Given the description of an element on the screen output the (x, y) to click on. 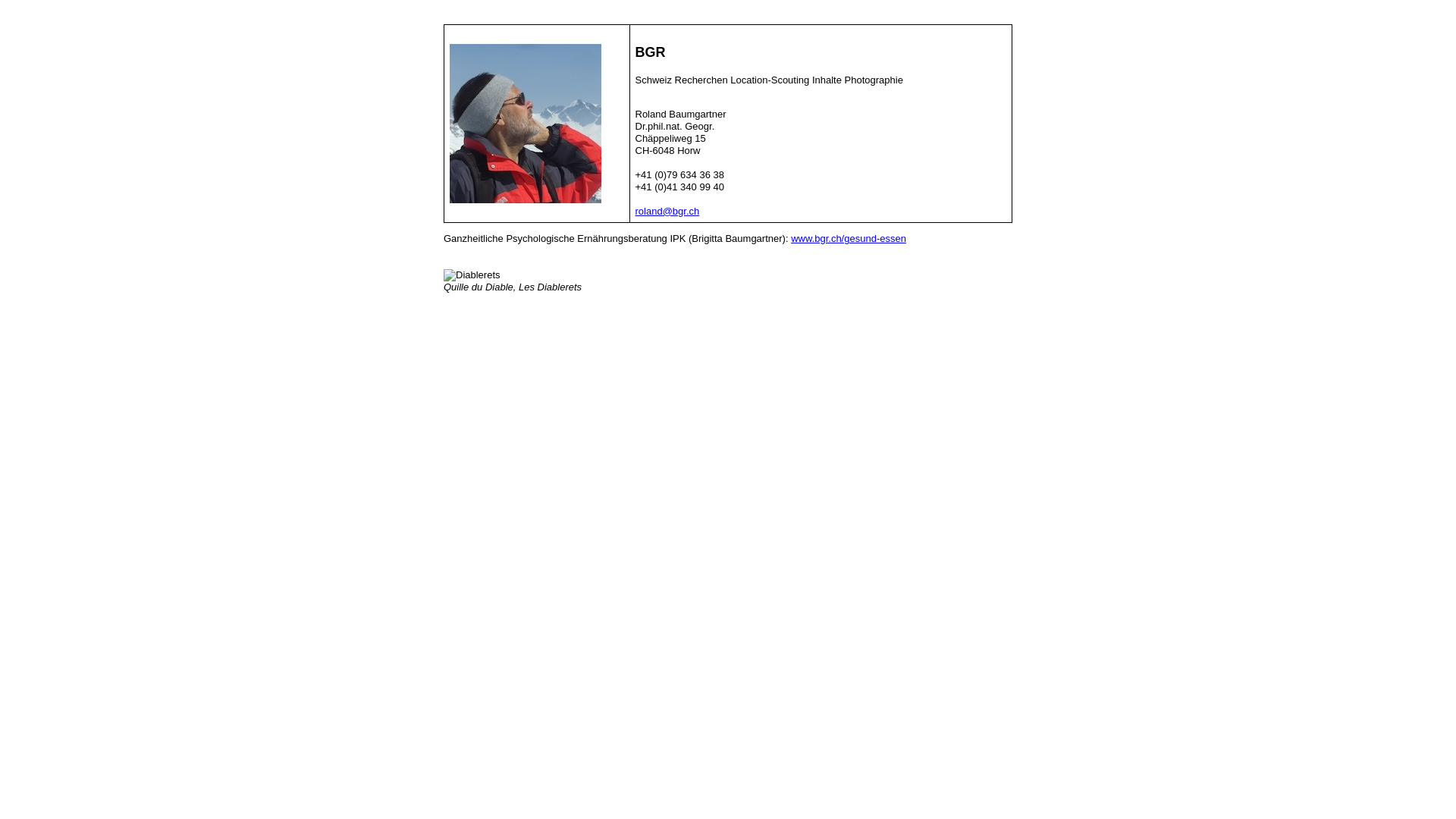
roland@bgr.ch Element type: text (667, 210)
Baumgartner Element type: hover (524, 123)
www.bgr.ch/gesund-essen Element type: text (848, 238)
